Given the description of an element on the screen output the (x, y) to click on. 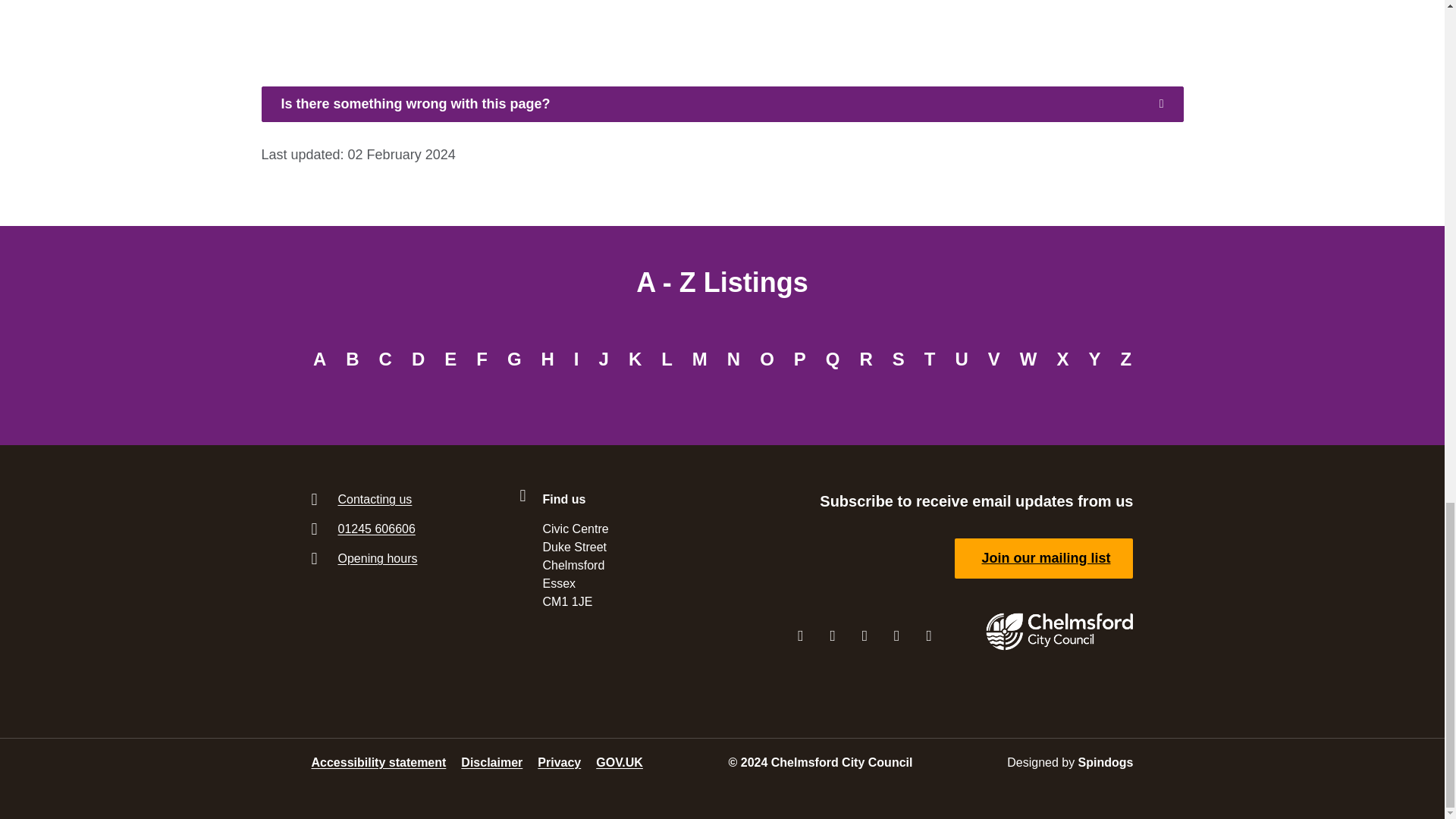
G (514, 359)
H (547, 359)
L (666, 359)
O (766, 359)
K (634, 359)
I (576, 359)
J (603, 359)
N (733, 359)
N (733, 359)
H (547, 359)
C (385, 359)
D (417, 359)
A (319, 359)
B (352, 359)
F (481, 359)
